Given the description of an element on the screen output the (x, y) to click on. 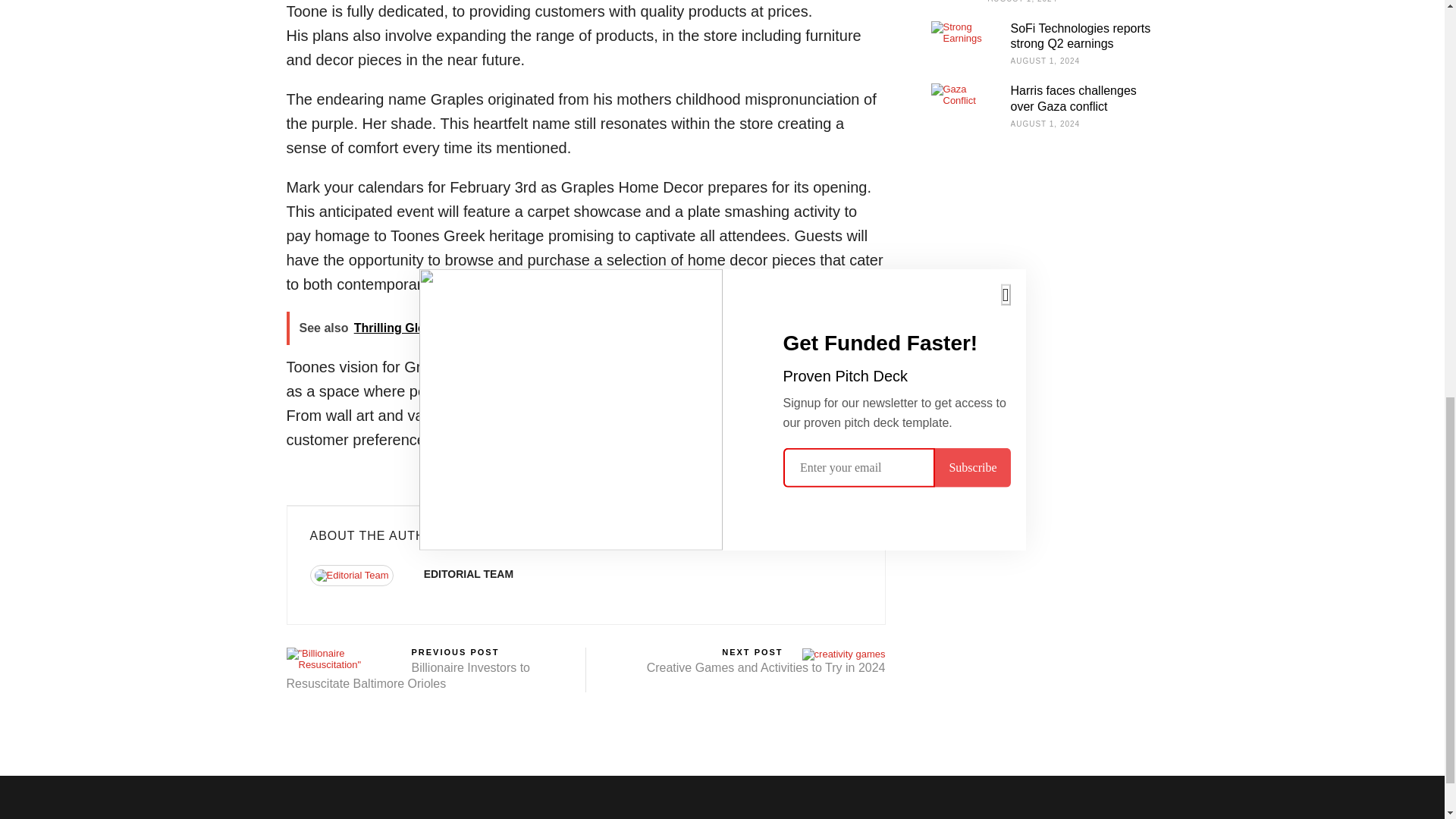
Visit Author Page (357, 580)
Posts by Editorial Team (468, 573)
